Given the description of an element on the screen output the (x, y) to click on. 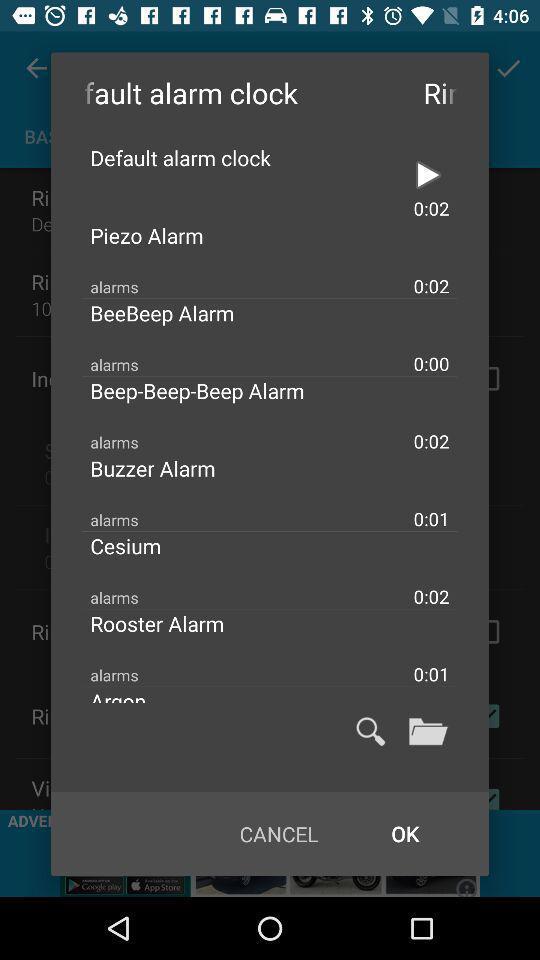
search (370, 731)
